Given the description of an element on the screen output the (x, y) to click on. 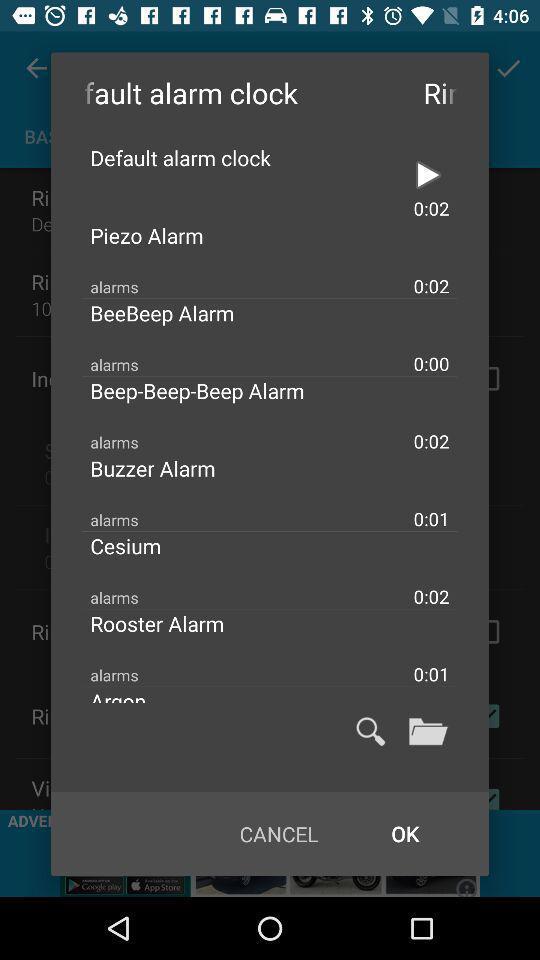
search (370, 731)
